Given the description of an element on the screen output the (x, y) to click on. 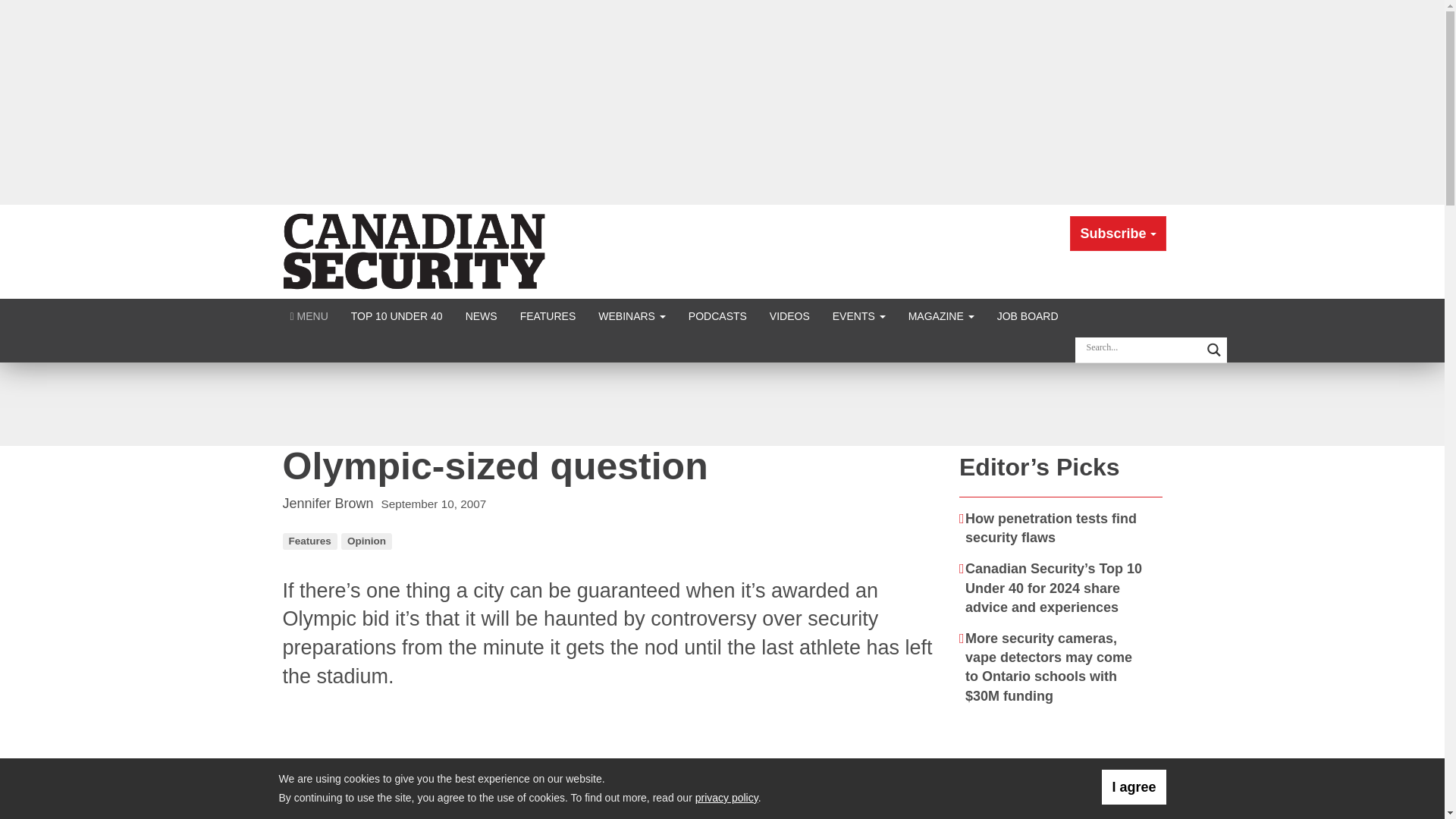
NEWS (481, 315)
PODCASTS (717, 315)
EVENTS (858, 315)
FEATURES (548, 315)
3rd party ad content (1061, 768)
MAGAZINE (940, 315)
MENU (309, 315)
TOP 10 UNDER 40 (396, 315)
JOB BOARD (1027, 315)
Subscribe (1118, 233)
VIDEOS (789, 315)
3rd party ad content (721, 404)
Click to show site navigation (309, 315)
